Given the description of an element on the screen output the (x, y) to click on. 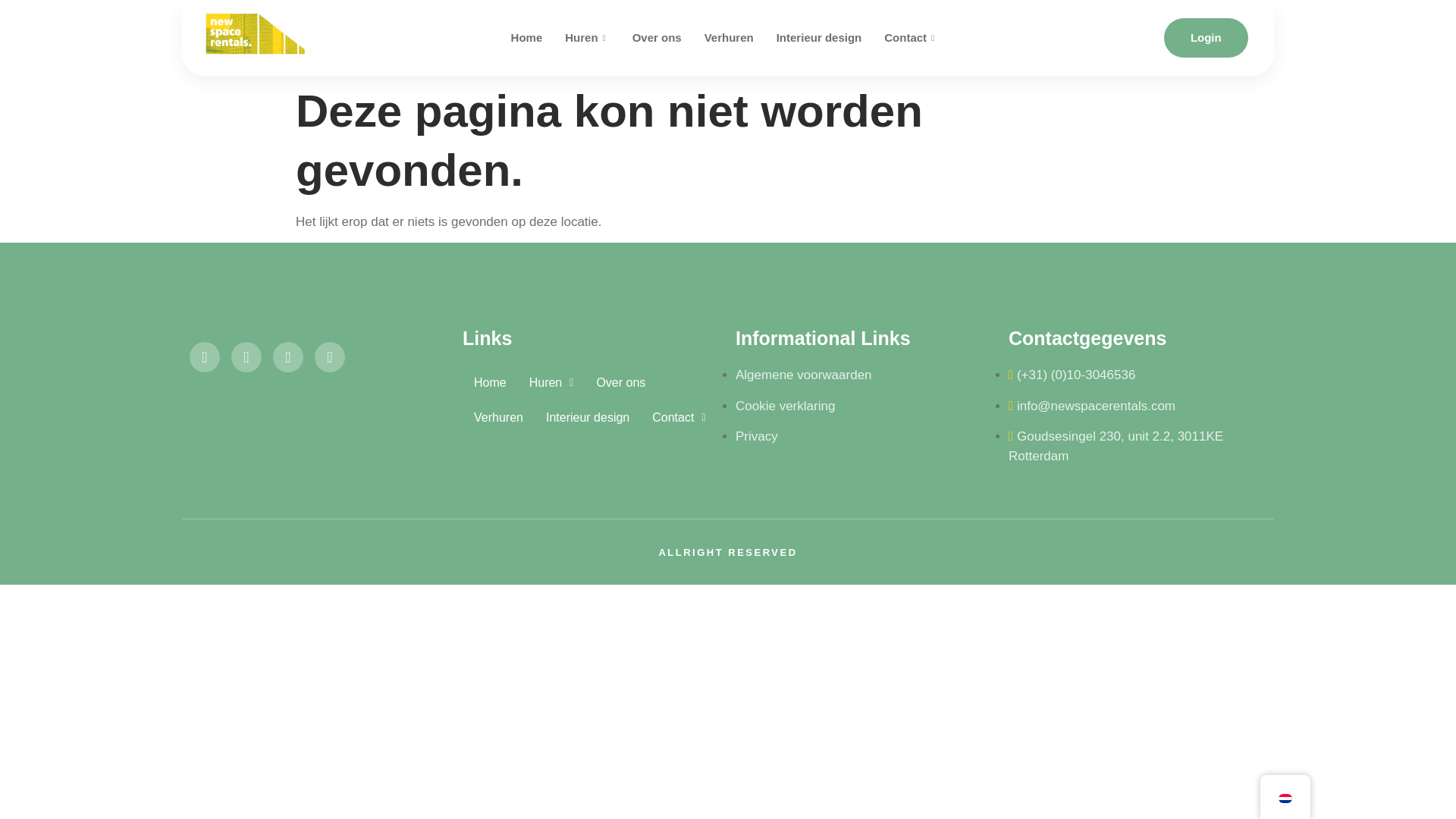
Verhuren (498, 417)
Login (1205, 37)
Over ons (657, 38)
Contact (910, 38)
Over ons (620, 382)
Interieur design (819, 38)
Interieur design (587, 417)
Algemene voorwaarden (803, 374)
Verhuren (729, 38)
Huren (551, 382)
